Given the description of an element on the screen output the (x, y) to click on. 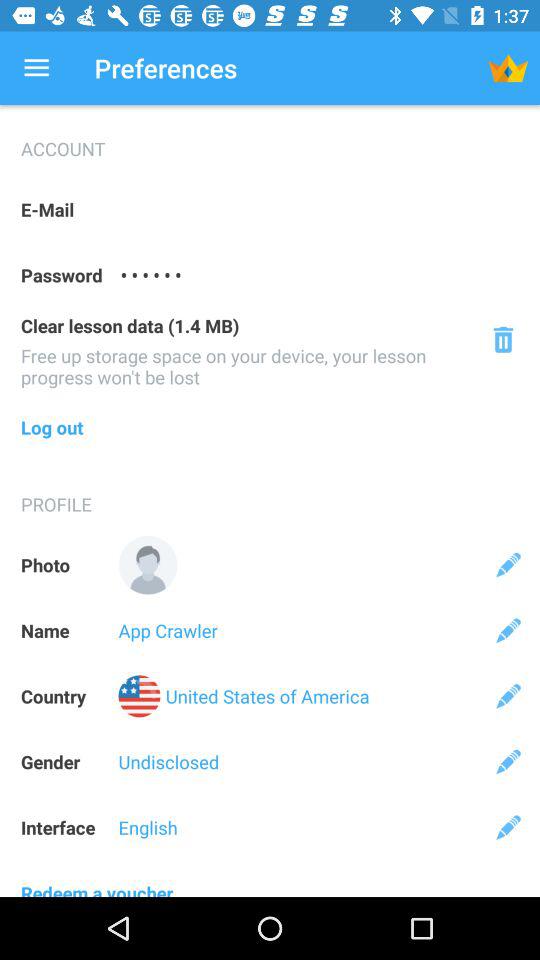
edit the detail (508, 564)
